Given the description of an element on the screen output the (x, y) to click on. 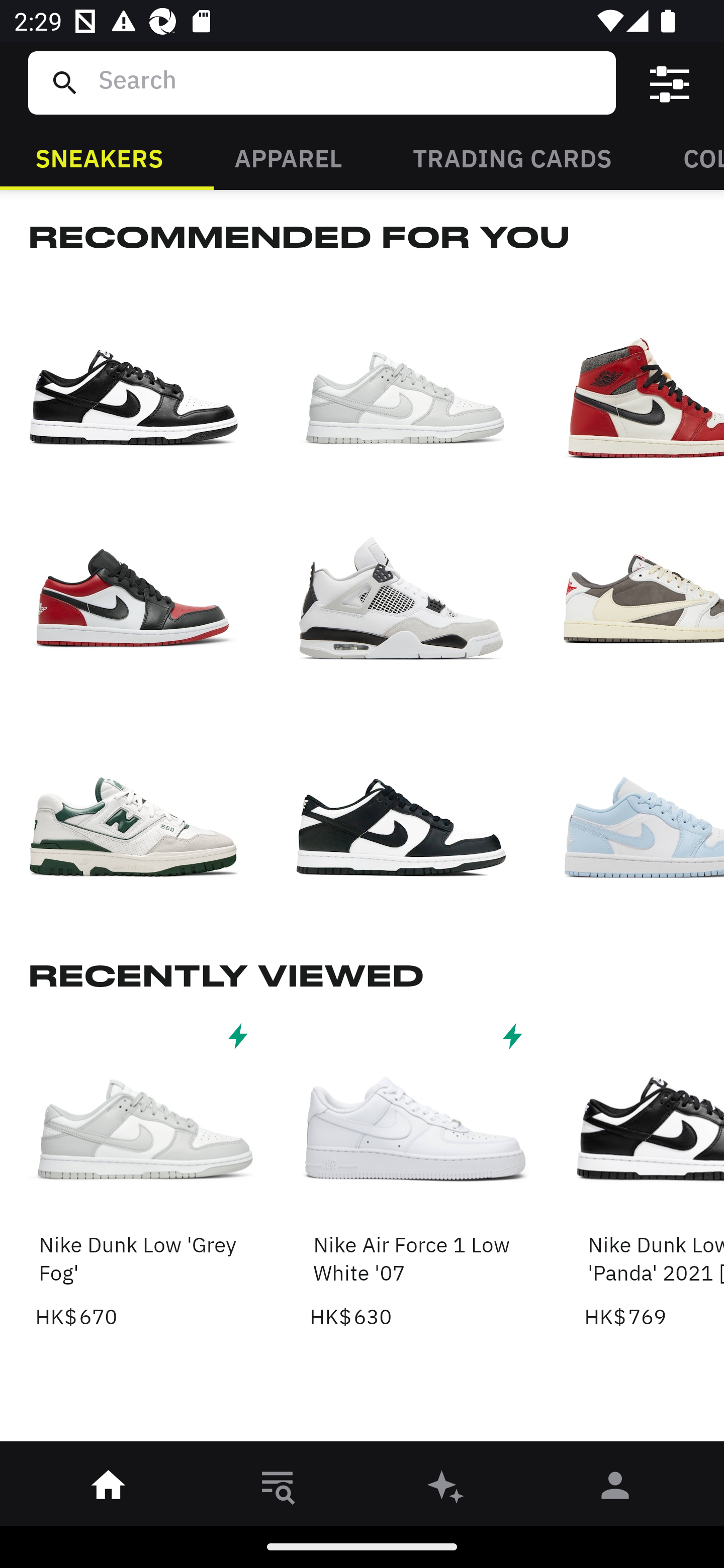
Search (349, 82)
 (669, 82)
SNEAKERS (99, 156)
APPAREL (287, 156)
TRADING CARDS (512, 156)
 Nike Dunk Low 'Grey Fog' HK$ 670 (140, 1174)
 Nike Air Force 1 Low White '07 HK$ 630 (414, 1174)
󰋜 (108, 1488)
󱎸 (277, 1488)
󰫢 (446, 1488)
󰀄 (615, 1488)
